Given the description of an element on the screen output the (x, y) to click on. 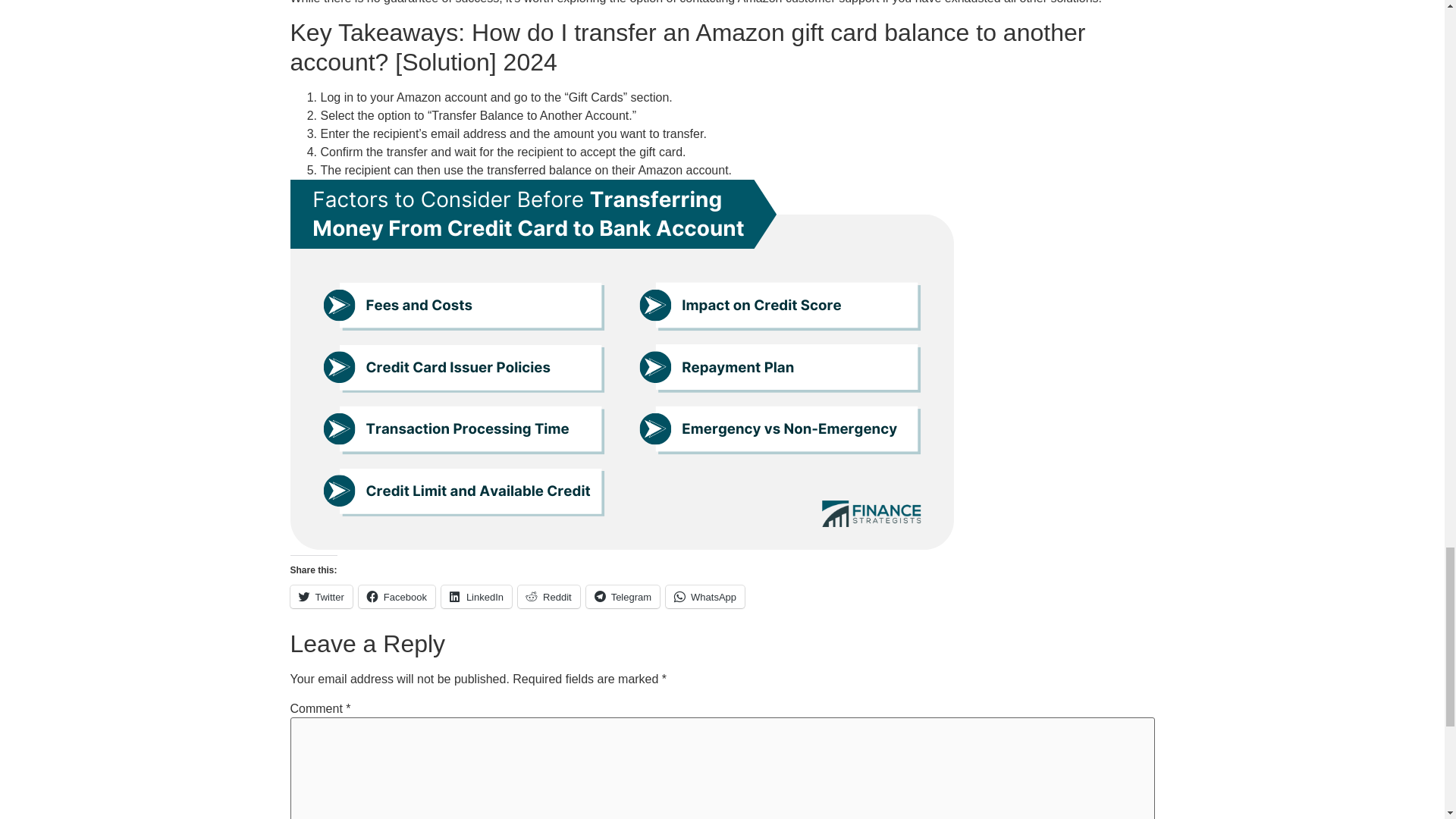
Twitter (320, 596)
Click to share on Reddit (548, 596)
Telegram (622, 596)
Click to share on Facebook (396, 596)
Click to share on Telegram (622, 596)
Facebook (396, 596)
Click to share on Twitter (320, 596)
LinkedIn (476, 596)
Click to share on WhatsApp (704, 596)
Reddit (548, 596)
Click to share on LinkedIn (476, 596)
WhatsApp (704, 596)
